Given the description of an element on the screen output the (x, y) to click on. 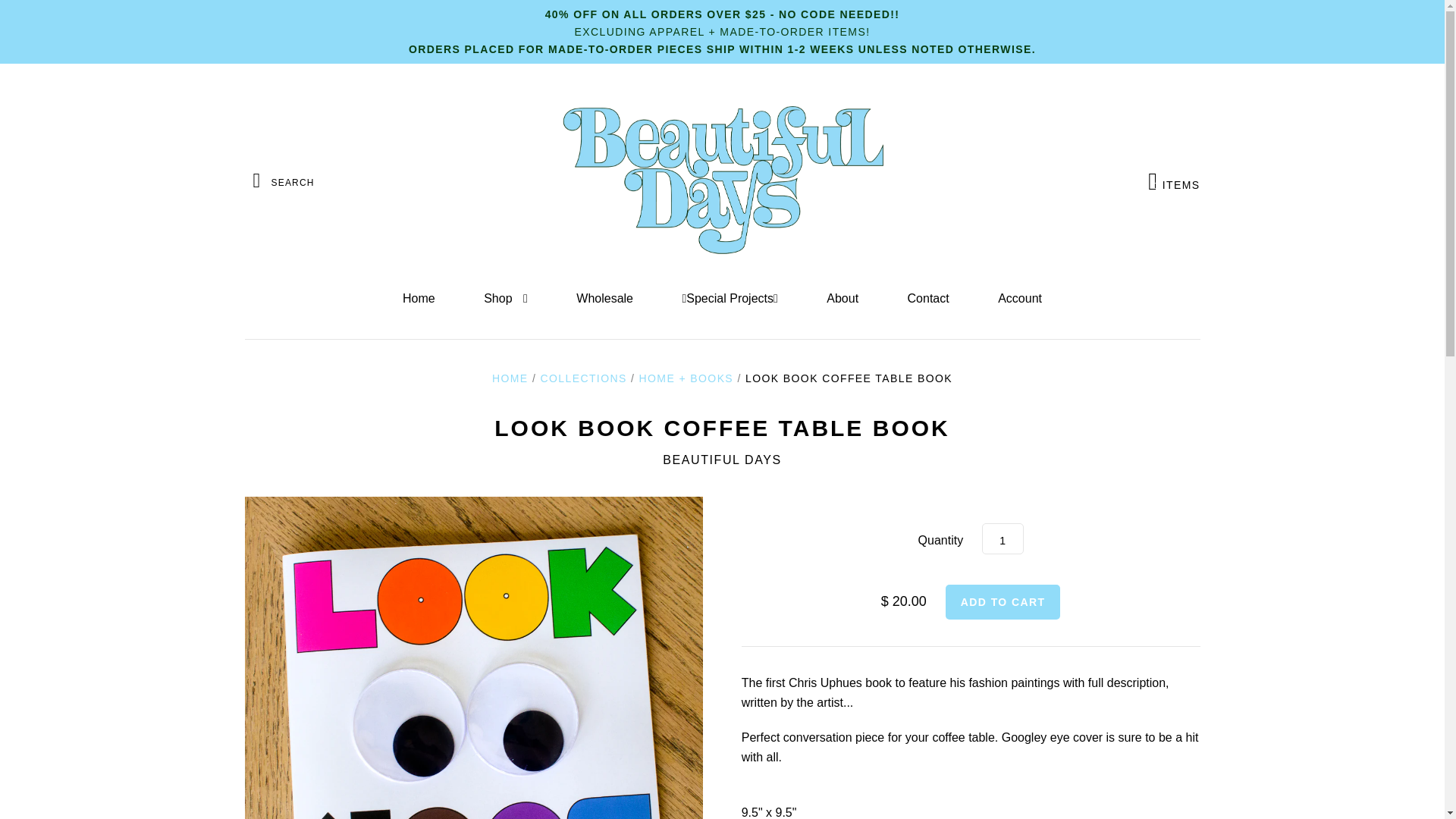
Account (1019, 298)
Home (419, 298)
Contact (928, 298)
BEAUTIFUL DAYS (721, 460)
Shop (505, 298)
COLLECTIONS (1173, 181)
HOME (583, 378)
1 (510, 378)
Add to cart (1002, 538)
